Given the description of an element on the screen output the (x, y) to click on. 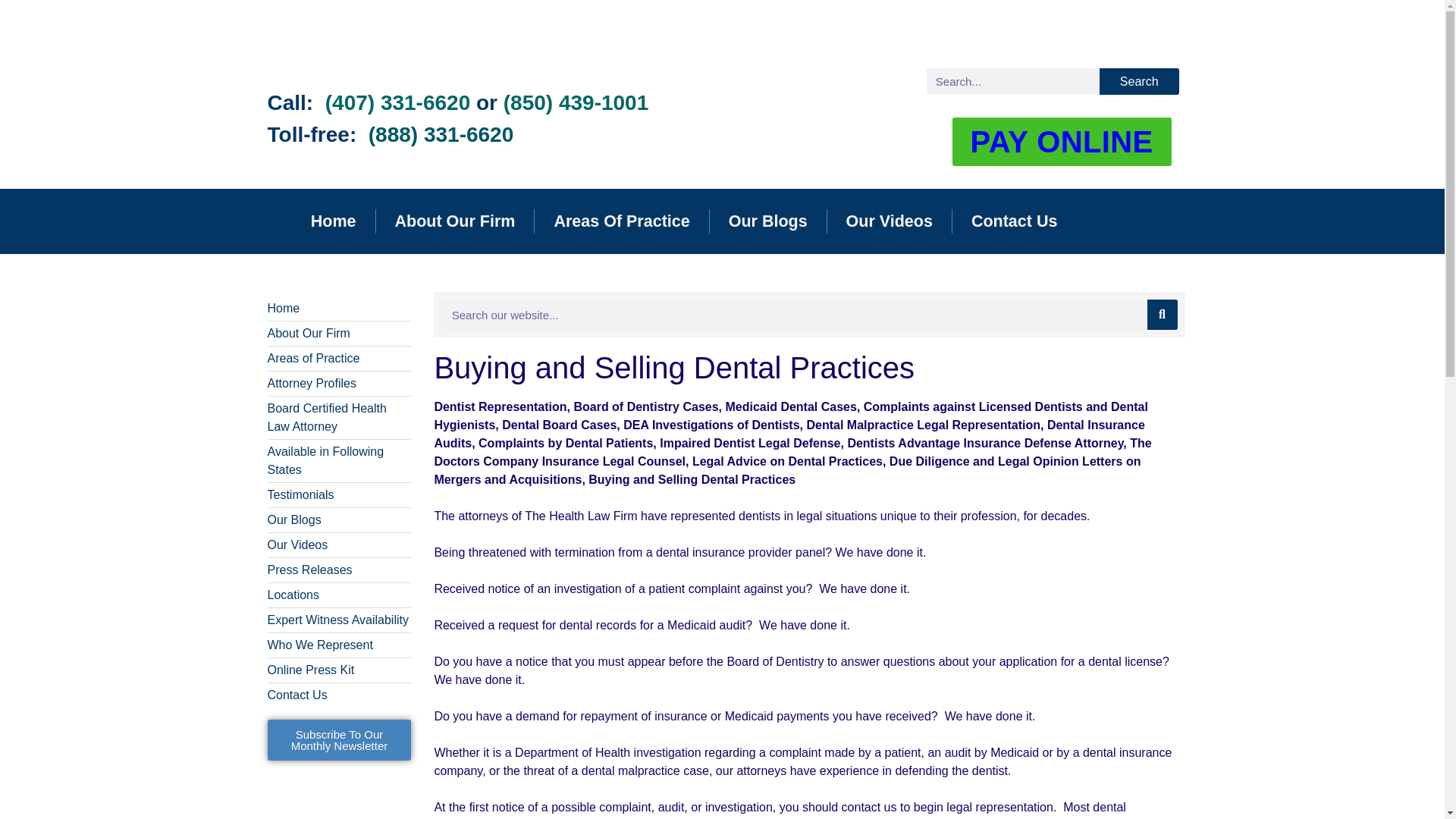
About Our Firm (338, 333)
Search (1139, 81)
Areas Of Practice (620, 221)
Home (338, 308)
PAY ONLINE (1062, 141)
Board Certified Health Law Attorney (338, 417)
Our Blogs (768, 221)
Our Videos (889, 221)
Attorney Profiles (338, 383)
Contact Us (1013, 221)
Home (333, 221)
Areas of Practice (338, 358)
About Our Firm (454, 221)
